Given the description of an element on the screen output the (x, y) to click on. 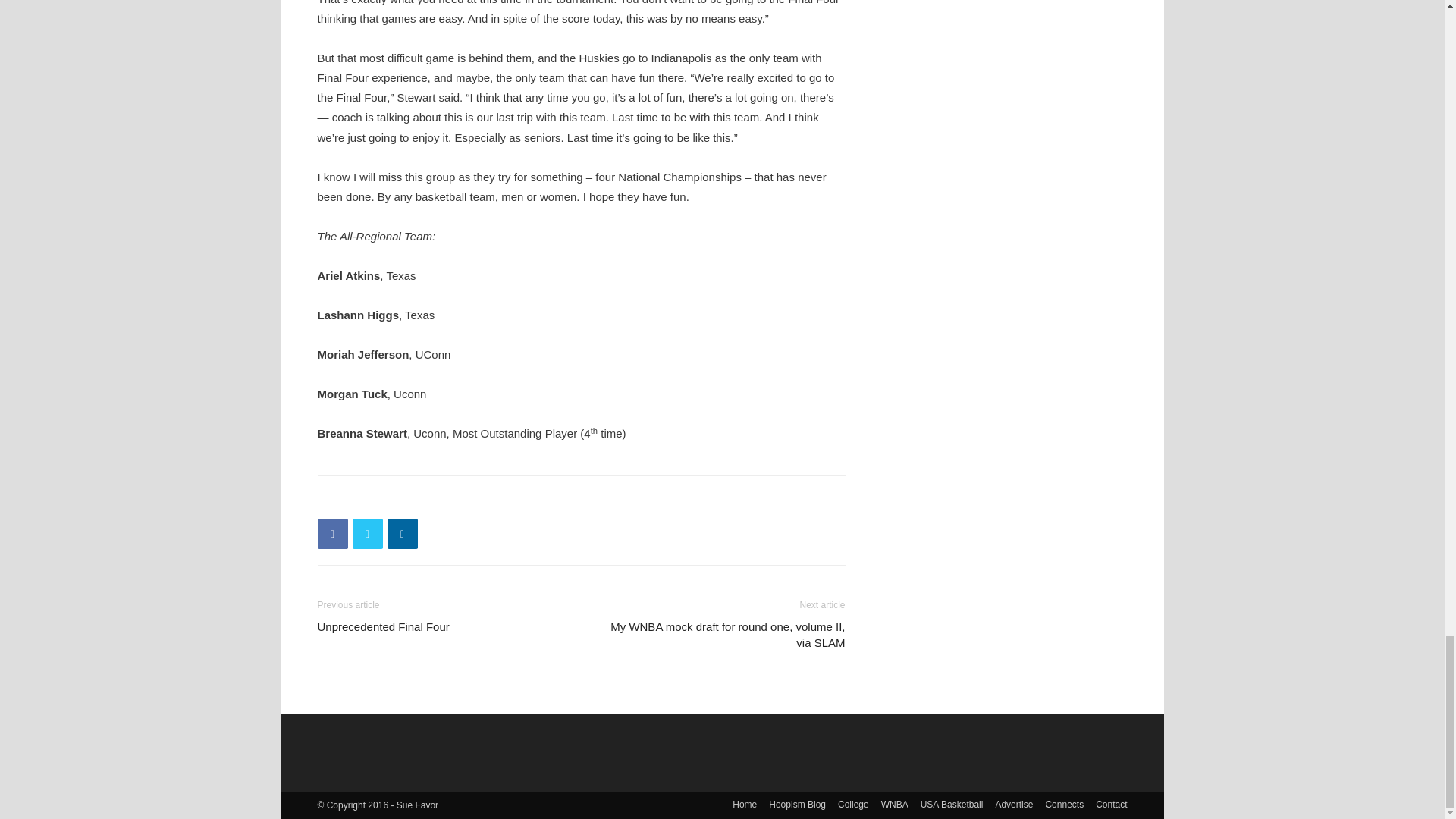
Twitter (366, 533)
Facebook (332, 533)
bottomFacebookLike (430, 499)
